Given the description of an element on the screen output the (x, y) to click on. 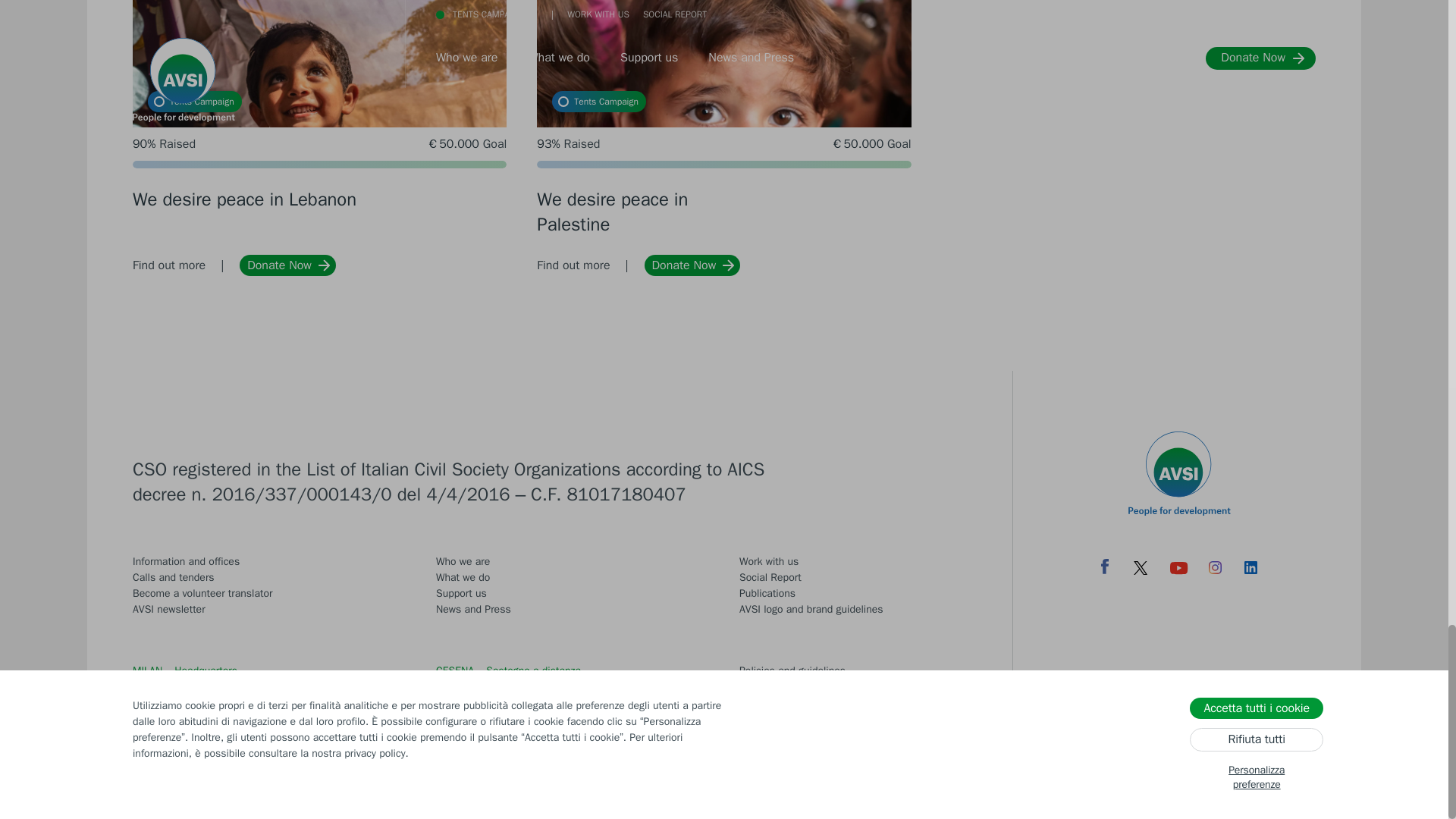
bambino-libanese-scaled-aspect-ratio-588-588 (319, 133)
Bambino-palestinese-scaled-aspect-ratio-588-588 (724, 133)
